Given the description of an element on the screen output the (x, y) to click on. 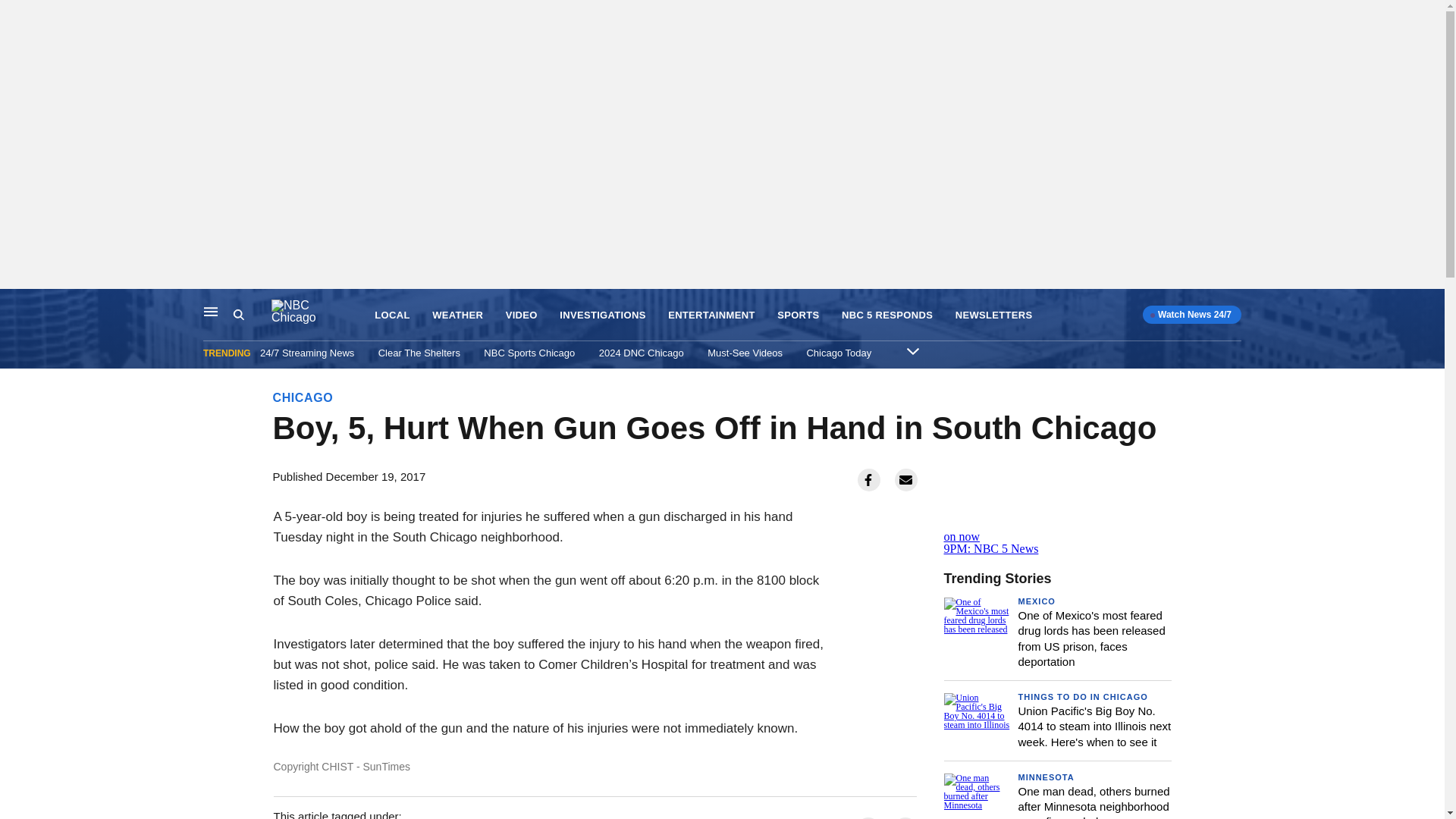
Main Navigation (210, 311)
VIDEO (521, 315)
MINNESOTA (1045, 777)
Chicago Today (838, 352)
LOCAL (391, 315)
2024 DNC Chicago (641, 352)
Expand (912, 350)
MEXICO (1035, 601)
NBC 5 RESPONDS (887, 315)
CHICAGO (303, 397)
